Given the description of an element on the screen output the (x, y) to click on. 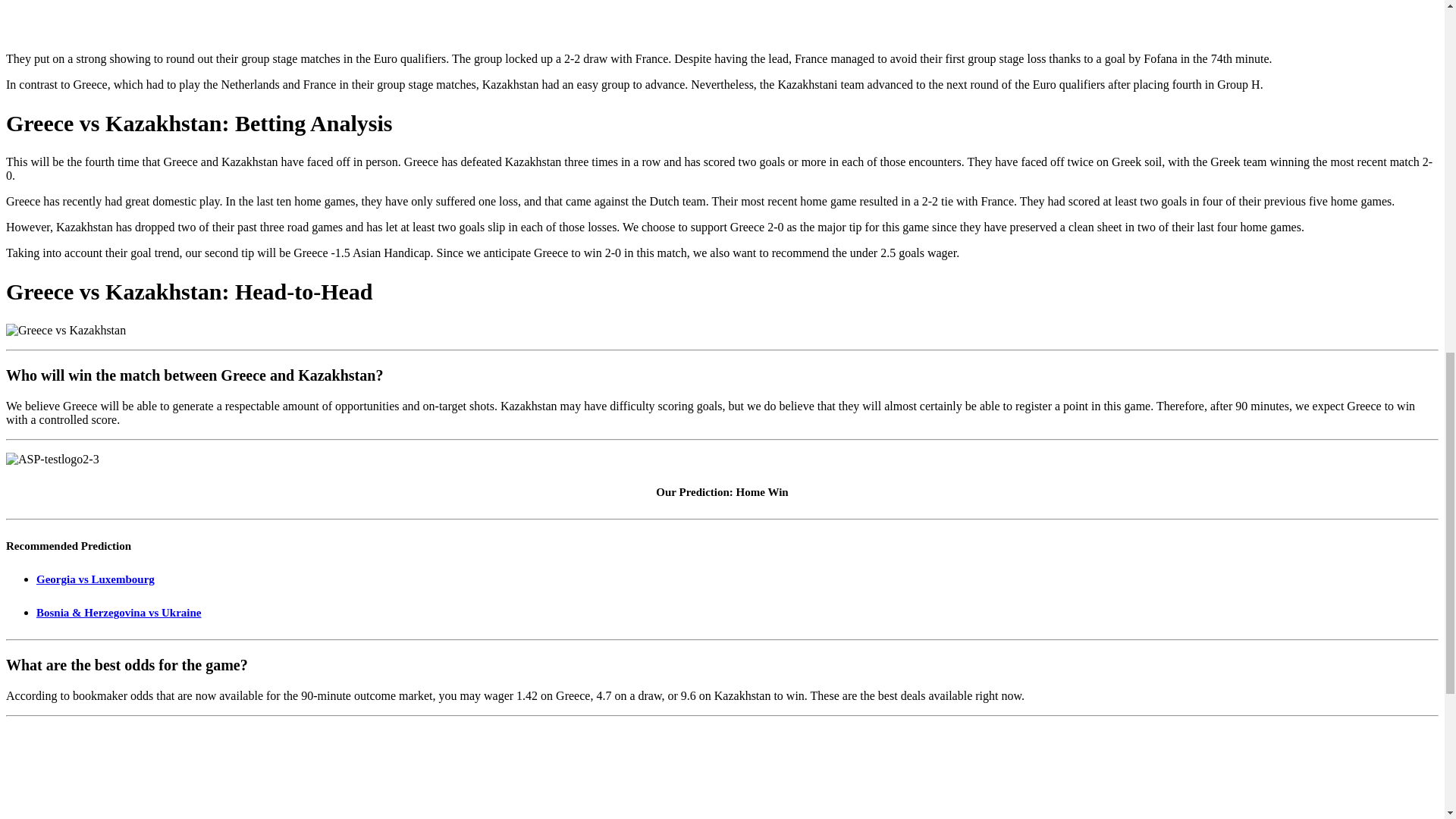
Georgia vs Luxembourg (95, 579)
